Given the description of an element on the screen output the (x, y) to click on. 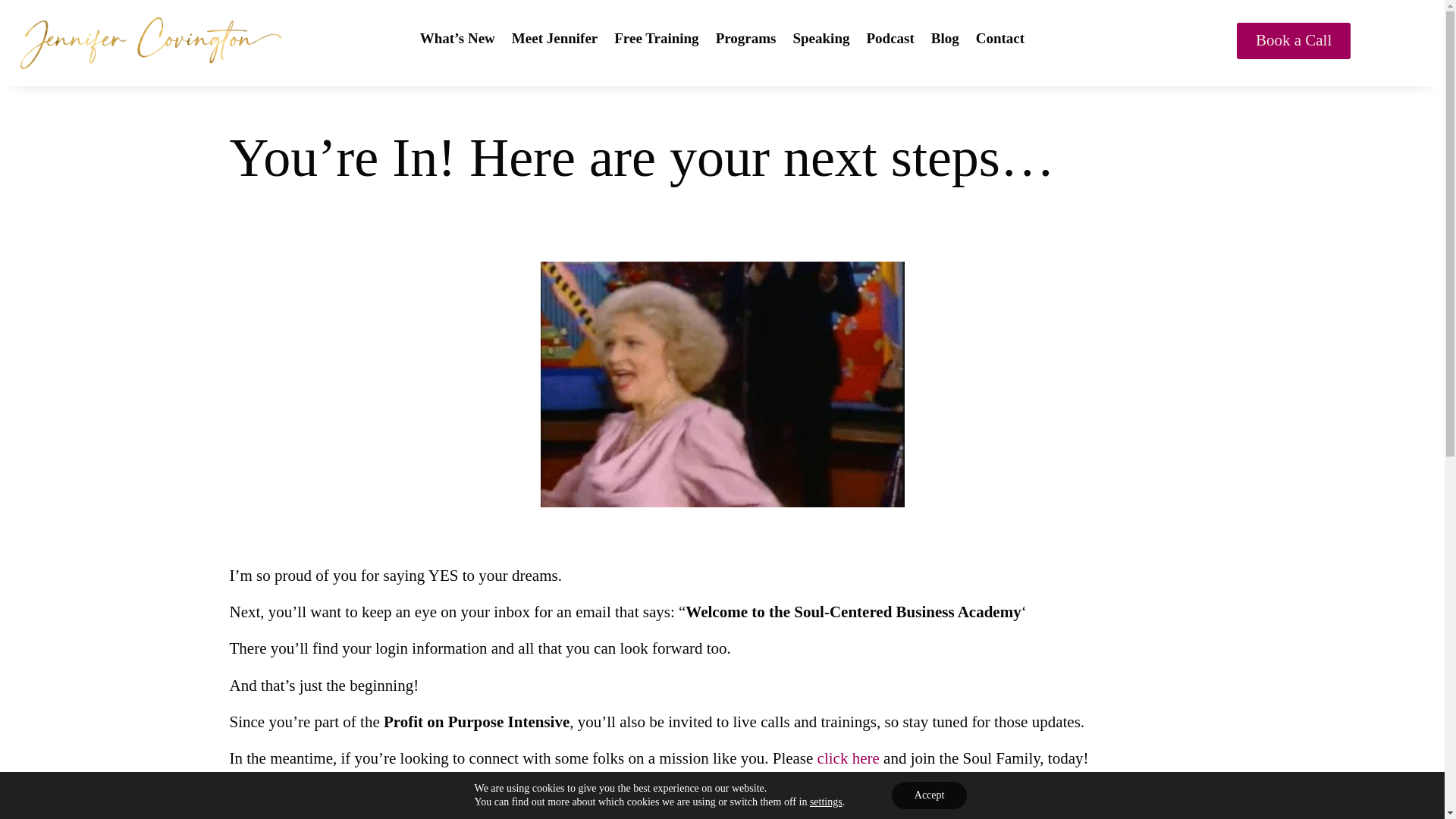
Blog (945, 41)
Book a Call (1293, 40)
Meet Jennifer (554, 41)
click here (847, 758)
Contact (1000, 41)
Accept (929, 795)
Speaking (820, 41)
Free Training (656, 41)
Logo Gold (150, 43)
Programs (746, 41)
Podcast (890, 41)
settings (826, 802)
